Given the description of an element on the screen output the (x, y) to click on. 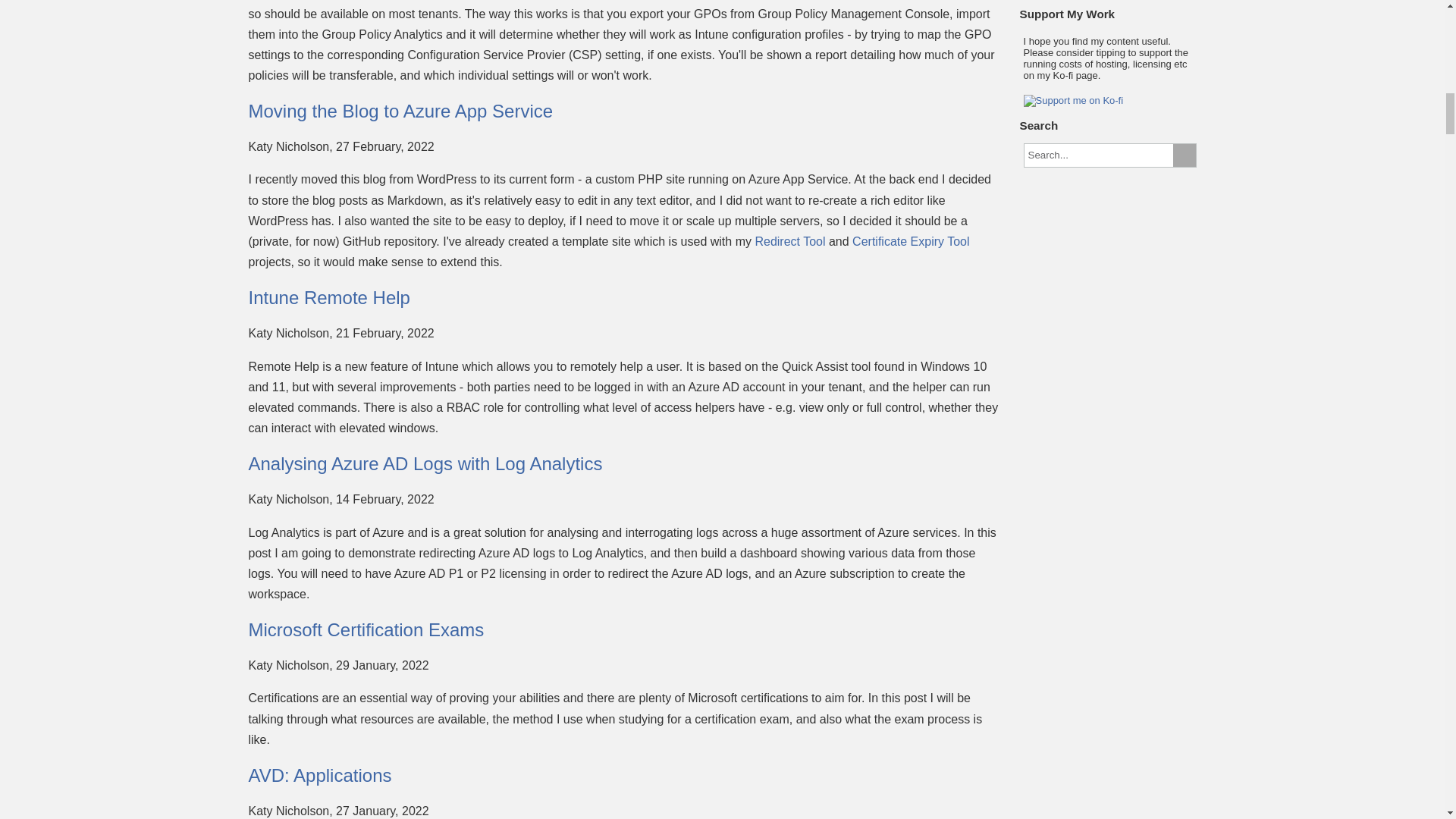
Moving the Blog to Azure App Service (400, 110)
Microsoft Certification Exams (366, 629)
Analysing Azure AD Logs with Log Analytics (425, 463)
Redirect Tool (789, 241)
Intune Remote Help (329, 297)
Certificate Expiry Tool (910, 241)
AVD: Applications (319, 774)
